Given the description of an element on the screen output the (x, y) to click on. 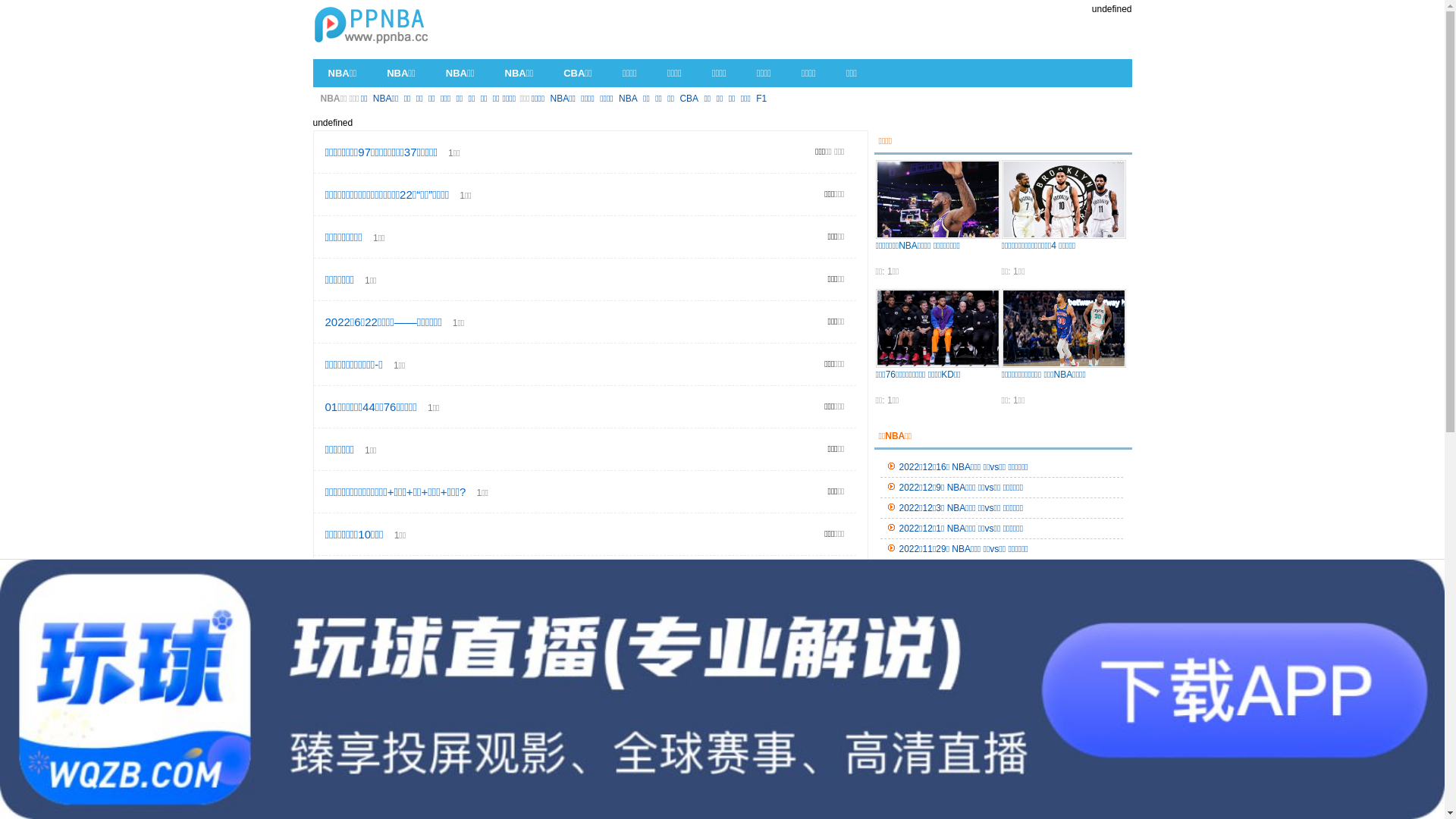
CBA Element type: text (688, 98)
NBA Element type: text (628, 98)
F1 Element type: text (761, 98)
NBA Element type: text (834, 745)
